Given the description of an element on the screen output the (x, y) to click on. 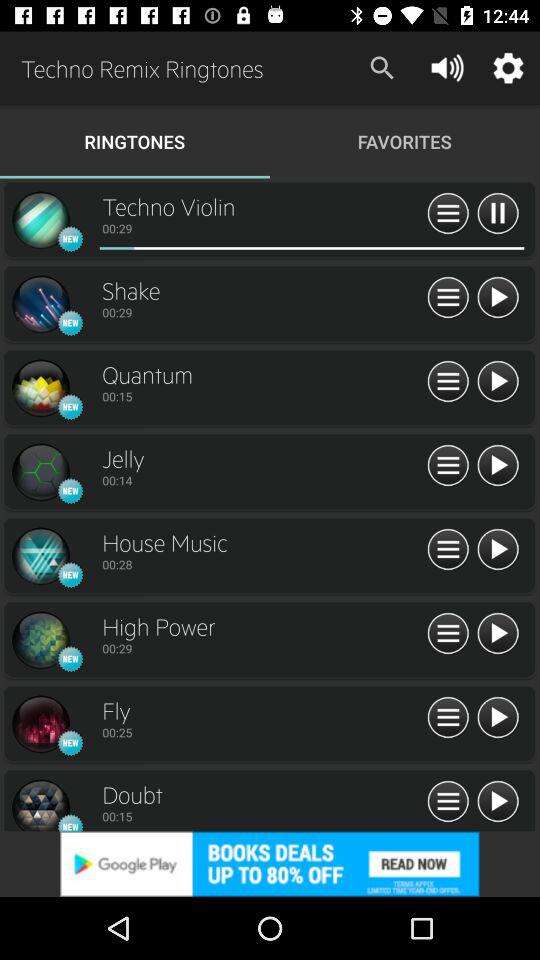
click arrow button (497, 633)
